Given the description of an element on the screen output the (x, y) to click on. 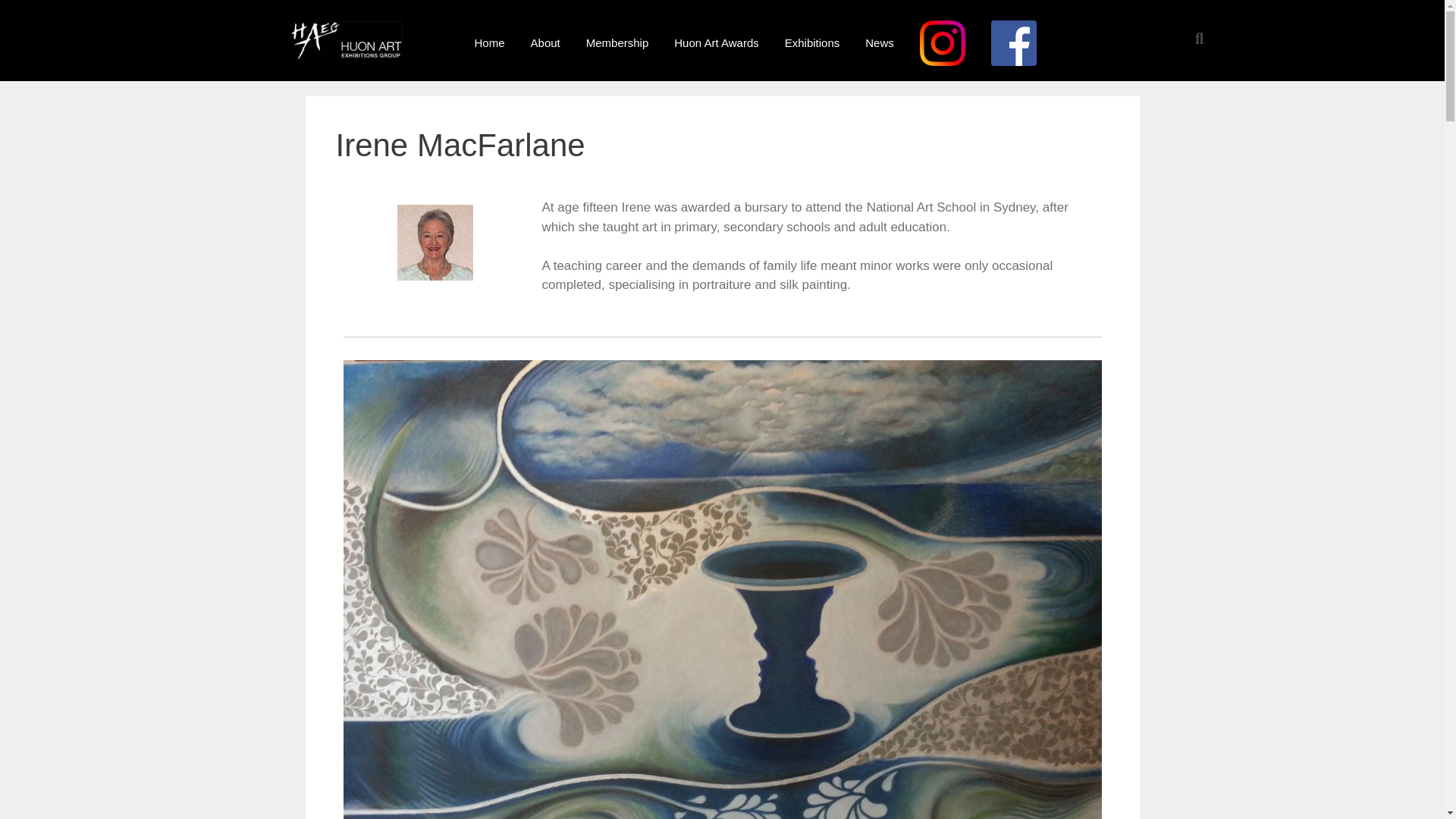
Huon Art Awards (716, 42)
Follow HAEG on Facebook (1013, 42)
Exhibitions (812, 42)
Follow HAEG on Instagram (942, 42)
Membership (617, 42)
irene-macfarlane-portrait-crop (435, 242)
